Given the description of an element on the screen output the (x, y) to click on. 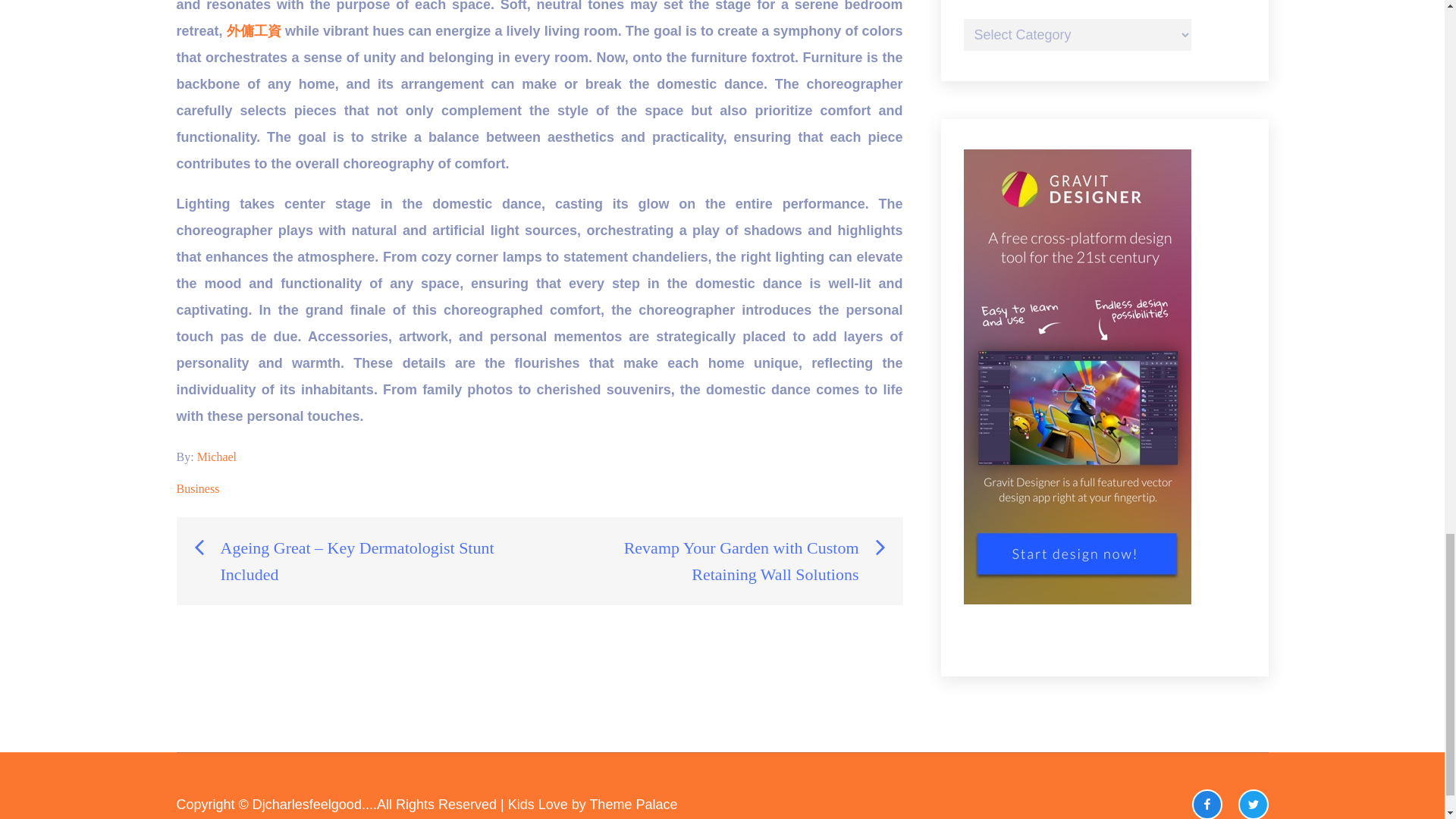
Michael (215, 456)
facebook (1207, 804)
Theme Palace (633, 804)
twitter (1252, 804)
Business (197, 488)
